Given the description of an element on the screen output the (x, y) to click on. 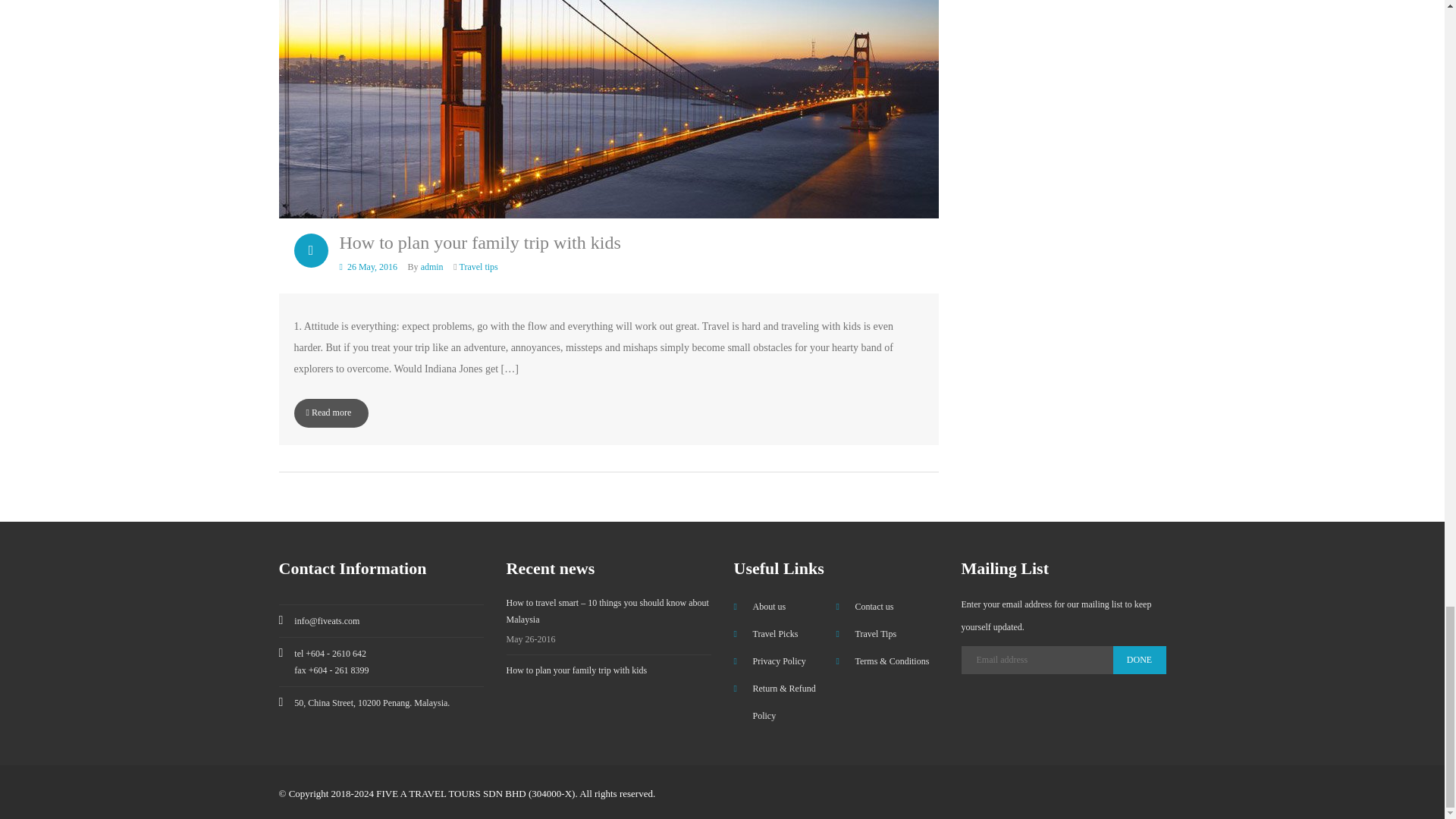
Privacy Policy (769, 660)
Travel tips (478, 266)
About us (759, 605)
Contact us (864, 605)
DONE (1139, 660)
Travel Picks (765, 633)
Travel Tips (865, 633)
How to plan your family trip with kids (480, 242)
Read more (331, 412)
How to plan your family trip with kids (576, 670)
